Given the description of an element on the screen output the (x, y) to click on. 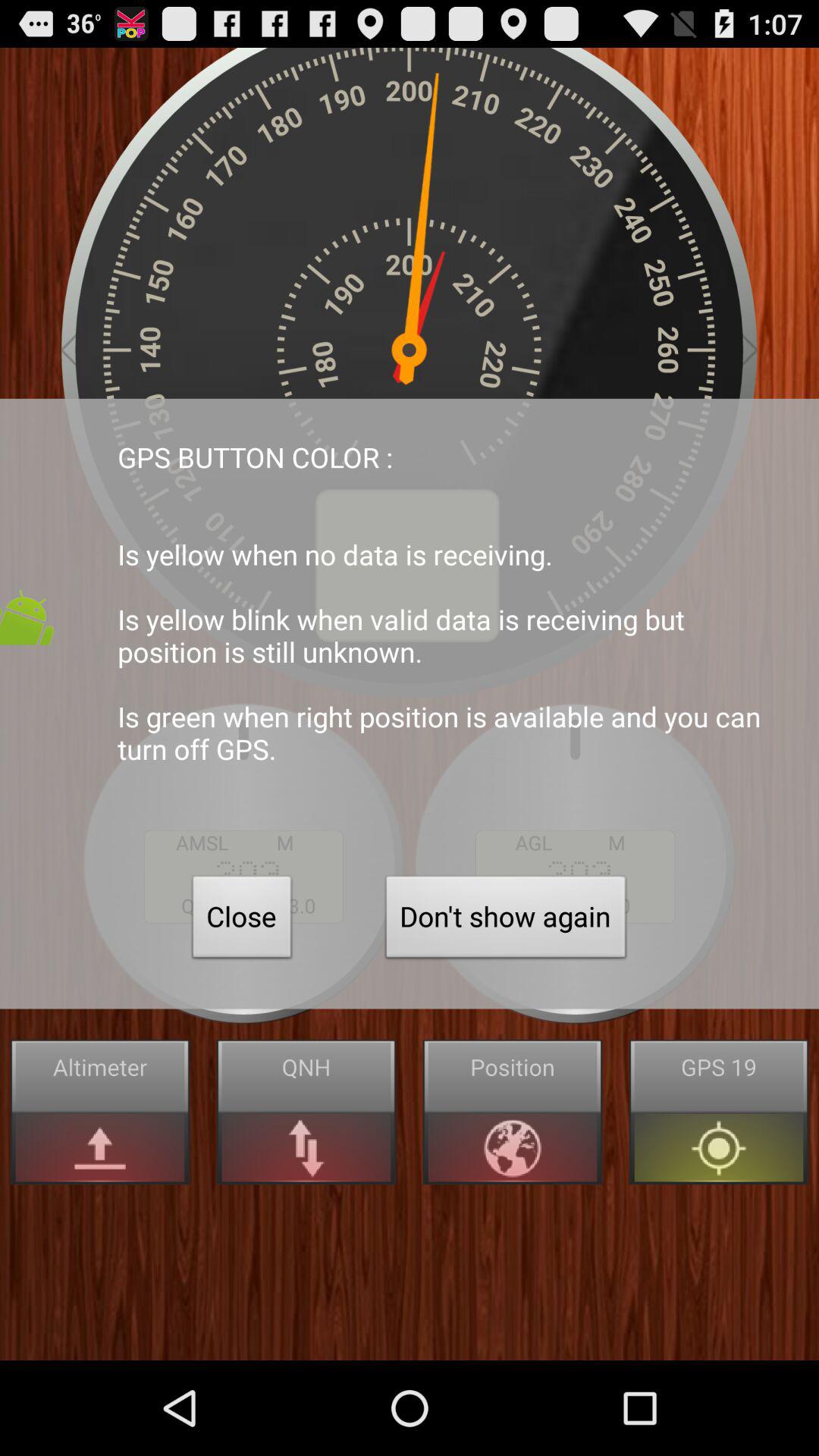
select close item (242, 921)
